Given the description of an element on the screen output the (x, y) to click on. 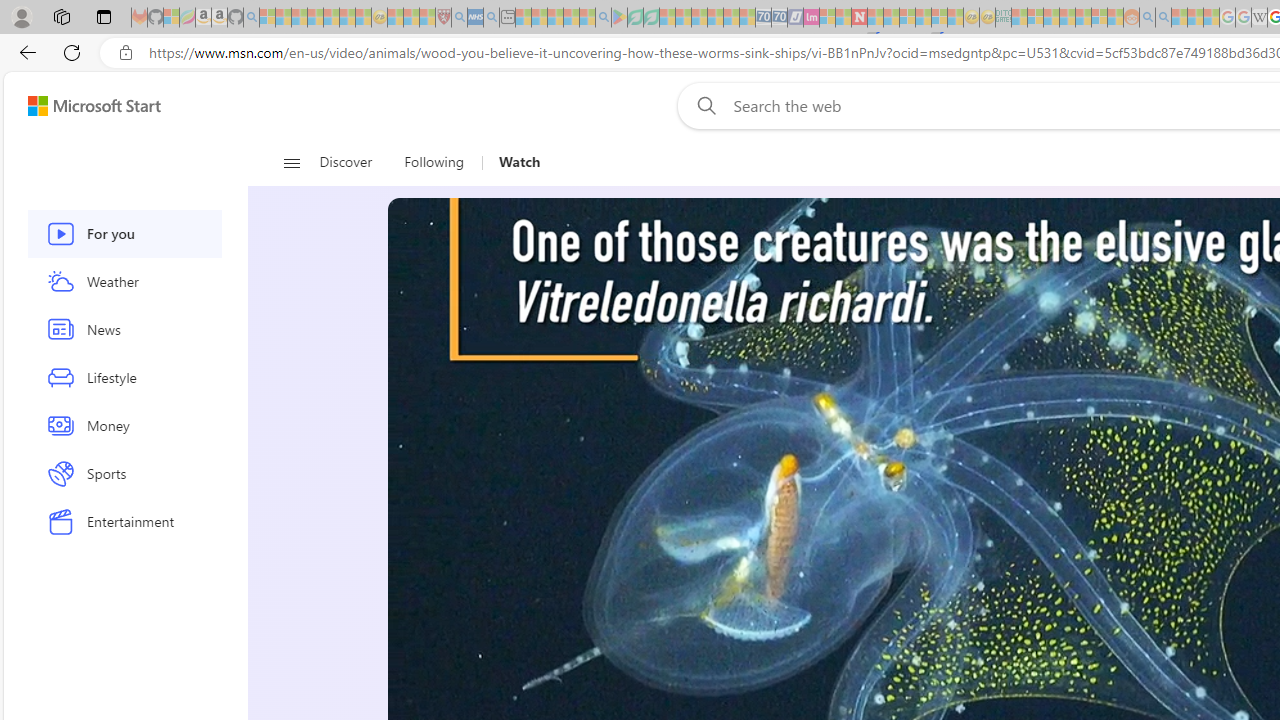
Class: button-glyph (290, 162)
